Given the description of an element on the screen output the (x, y) to click on. 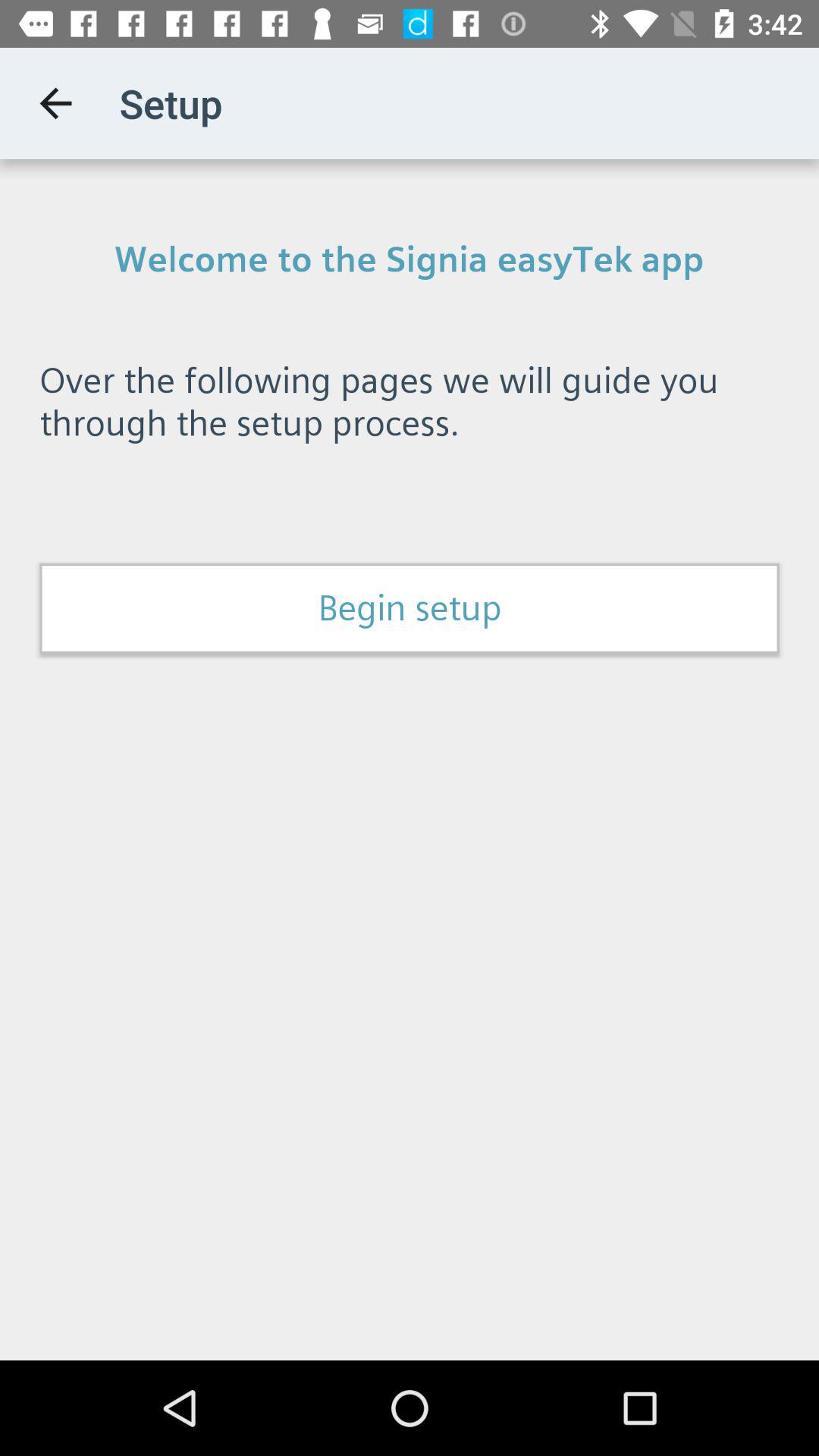
press the item at the center (409, 608)
